Given the description of an element on the screen output the (x, y) to click on. 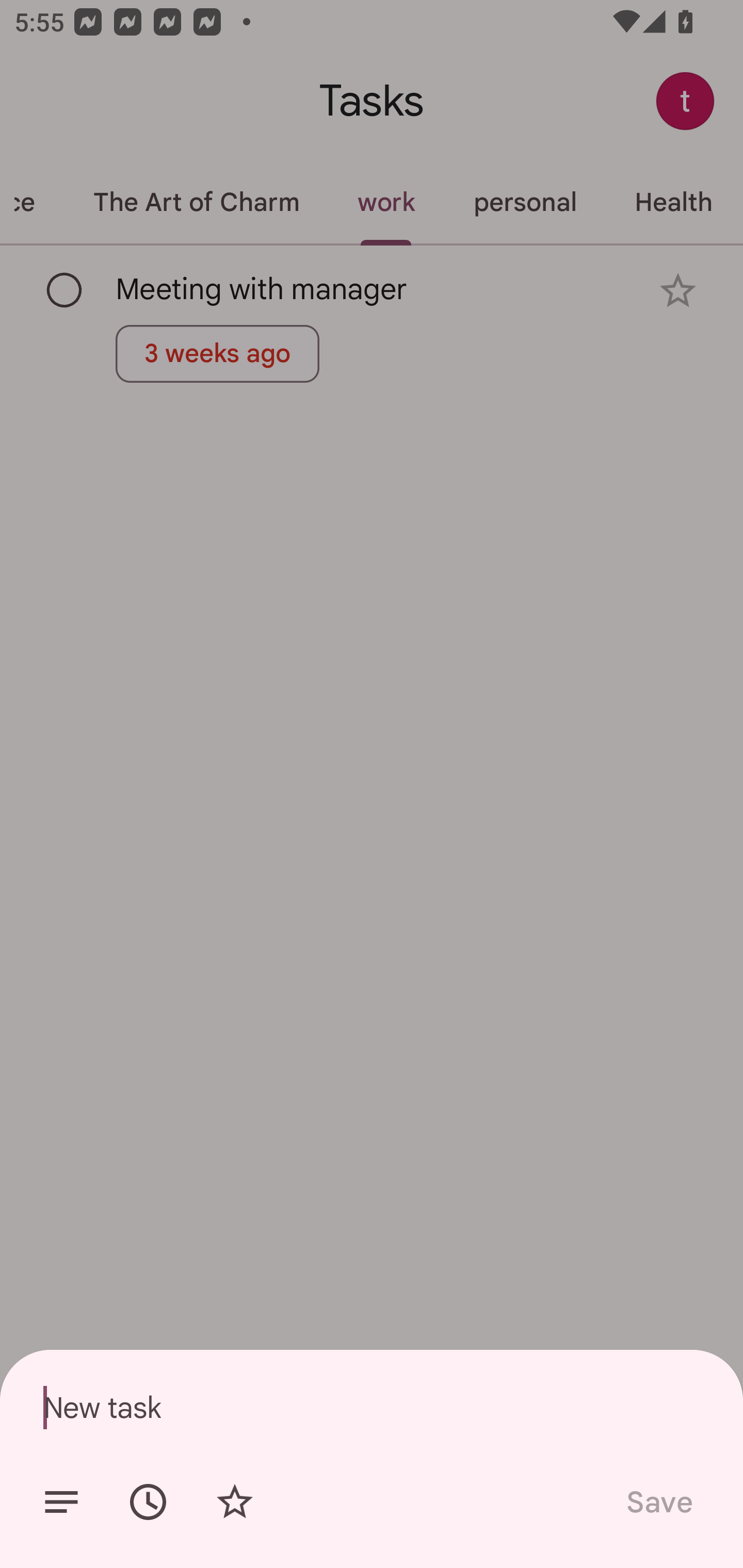
New task (371, 1407)
Save (659, 1501)
Add details (60, 1501)
Set date/time (147, 1501)
Add star (234, 1501)
